Given the description of an element on the screen output the (x, y) to click on. 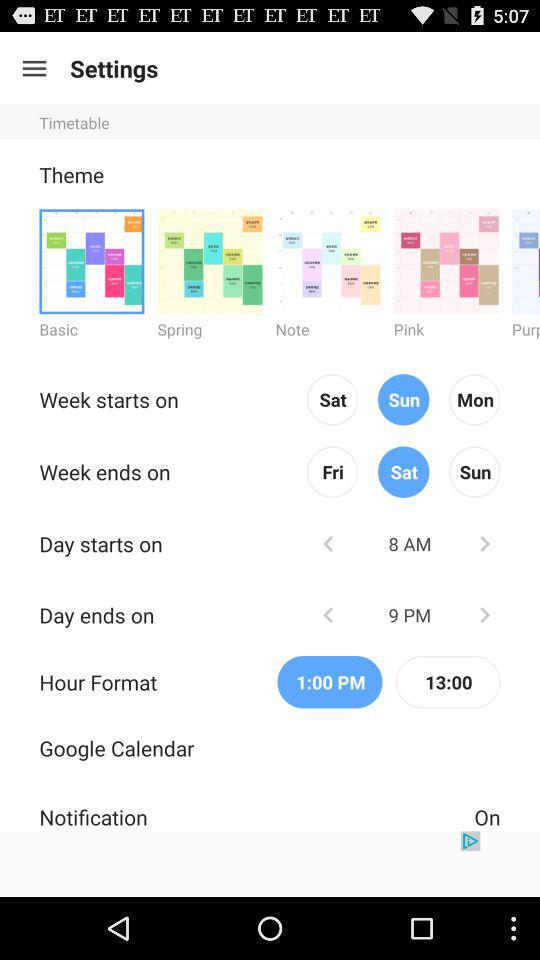
go back by hour (328, 543)
